Given the description of an element on the screen output the (x, y) to click on. 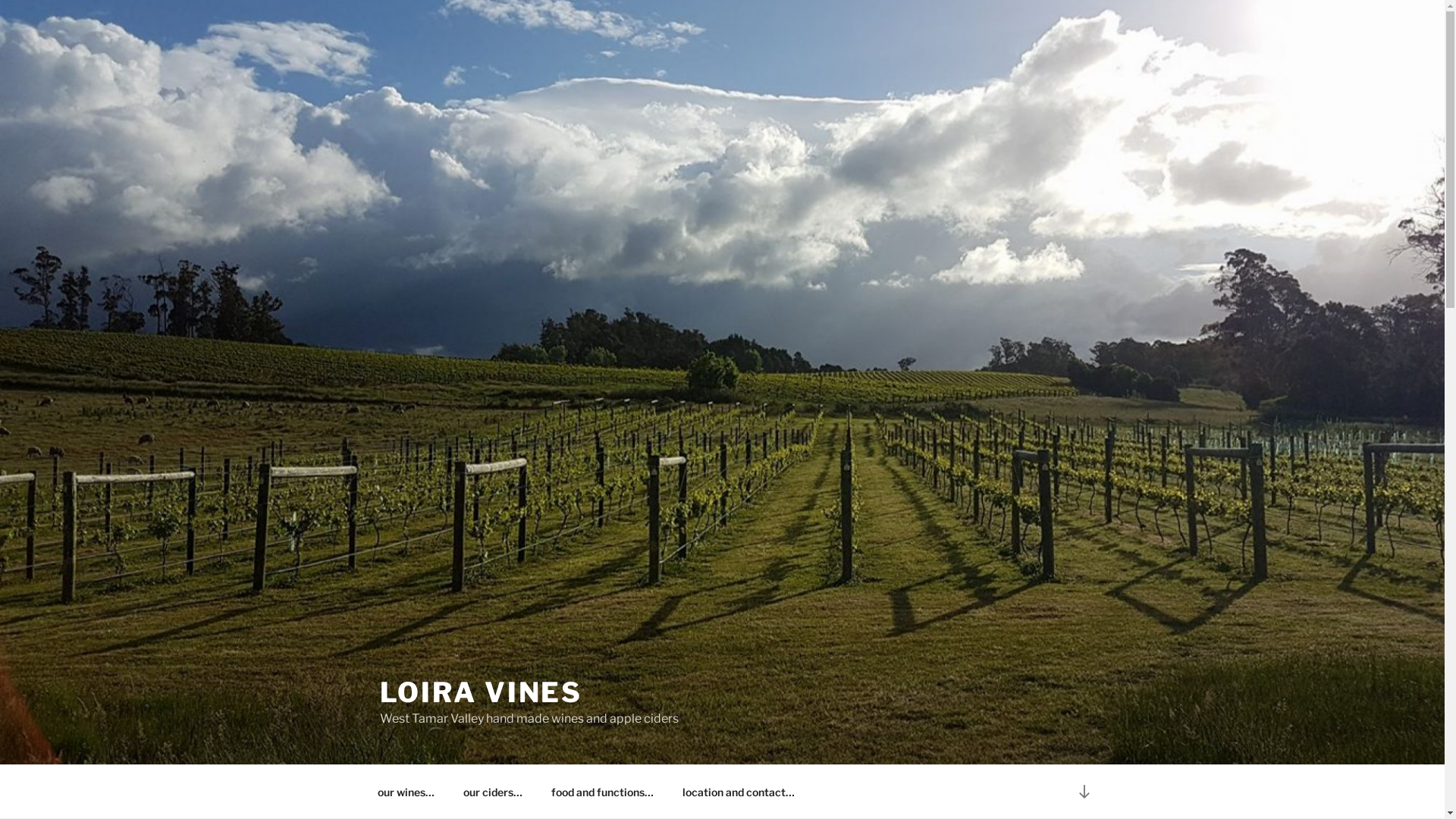
Scroll down to content Element type: text (1083, 790)
Skip to content Element type: text (0, 0)
LOIRA VINES Element type: text (480, 692)
